Given the description of an element on the screen output the (x, y) to click on. 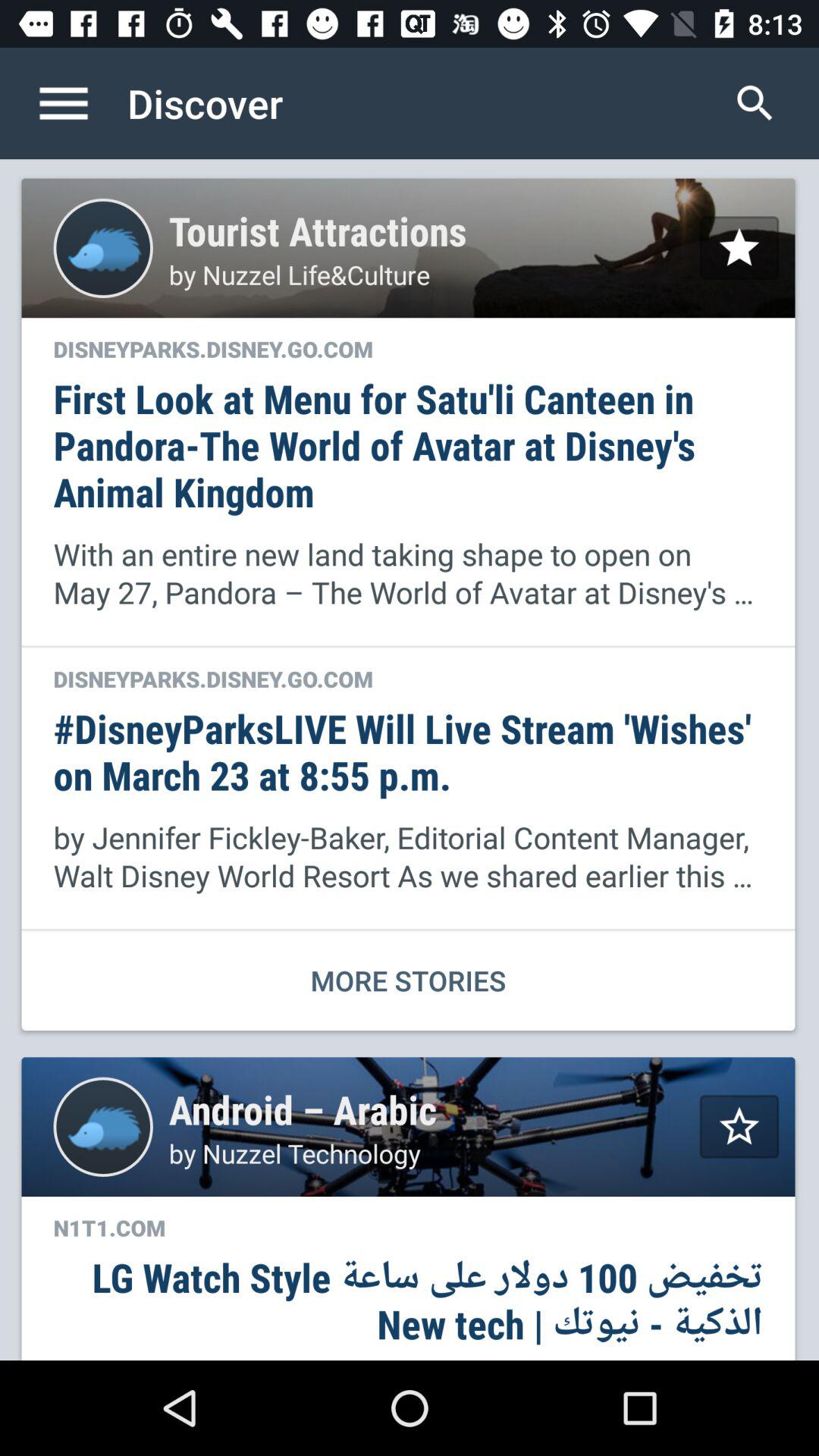
unfavorite current item (739, 247)
